Given the description of an element on the screen output the (x, y) to click on. 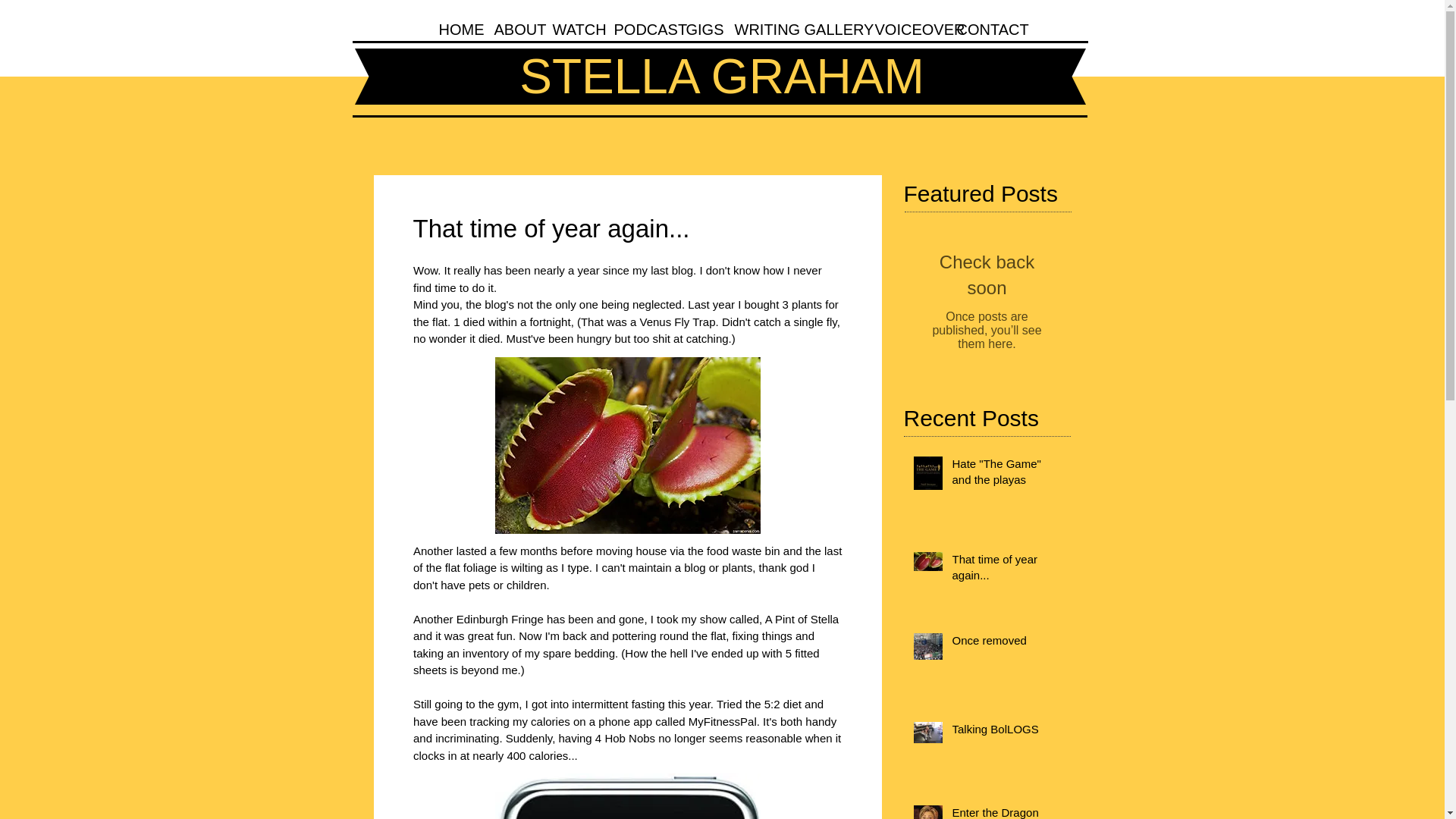
WRITING (758, 27)
That time of year again... (1006, 569)
VOICEOVER (903, 27)
Once removed (1006, 643)
HOME (455, 27)
CONTACT (980, 27)
ABOUT (510, 27)
Talking BolLOGS (1006, 731)
Enter the Dragon (1006, 811)
GIGS (699, 27)
